Given the description of an element on the screen output the (x, y) to click on. 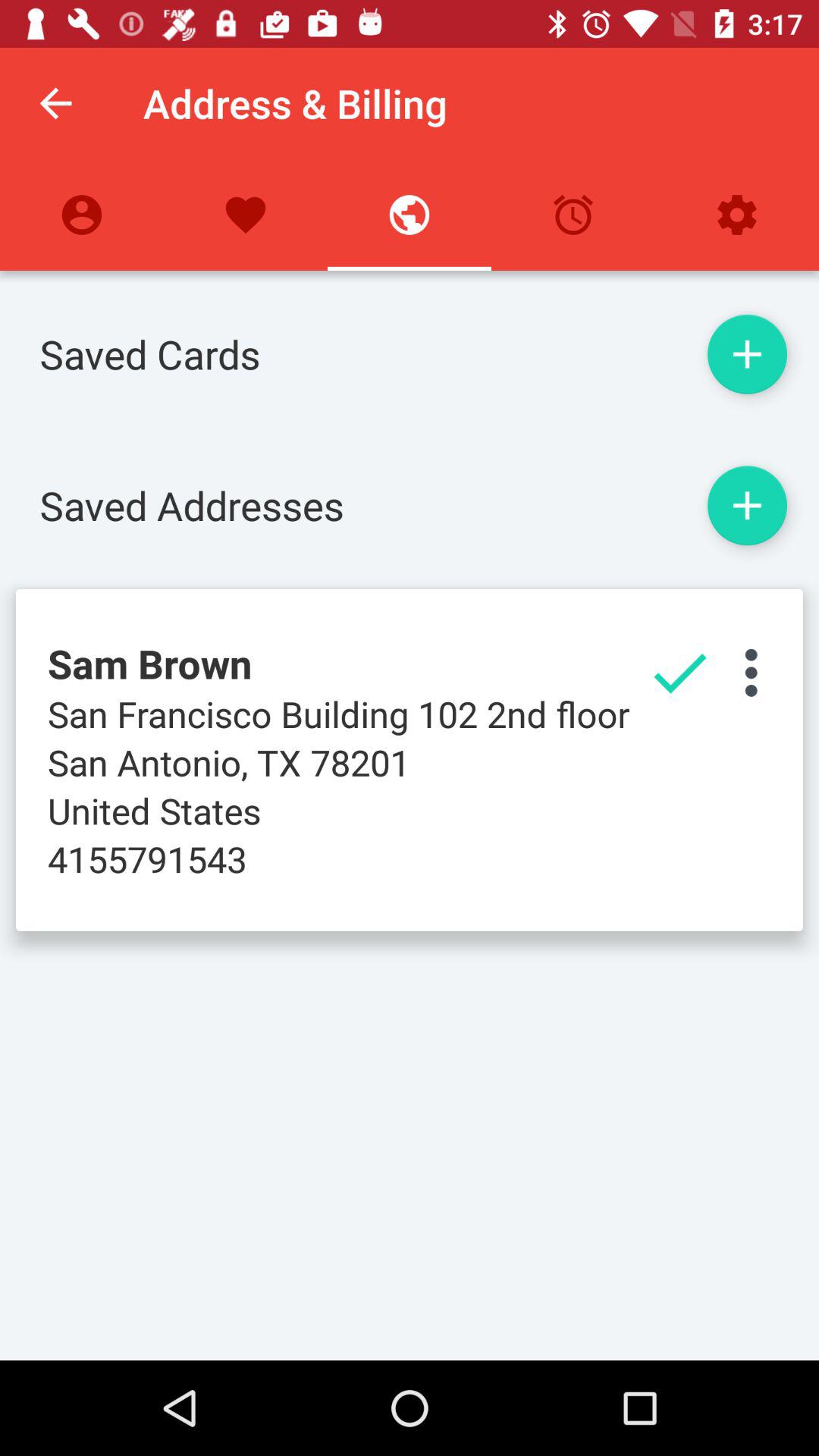
choose icon next to the address & billing (55, 103)
